Given the description of an element on the screen output the (x, y) to click on. 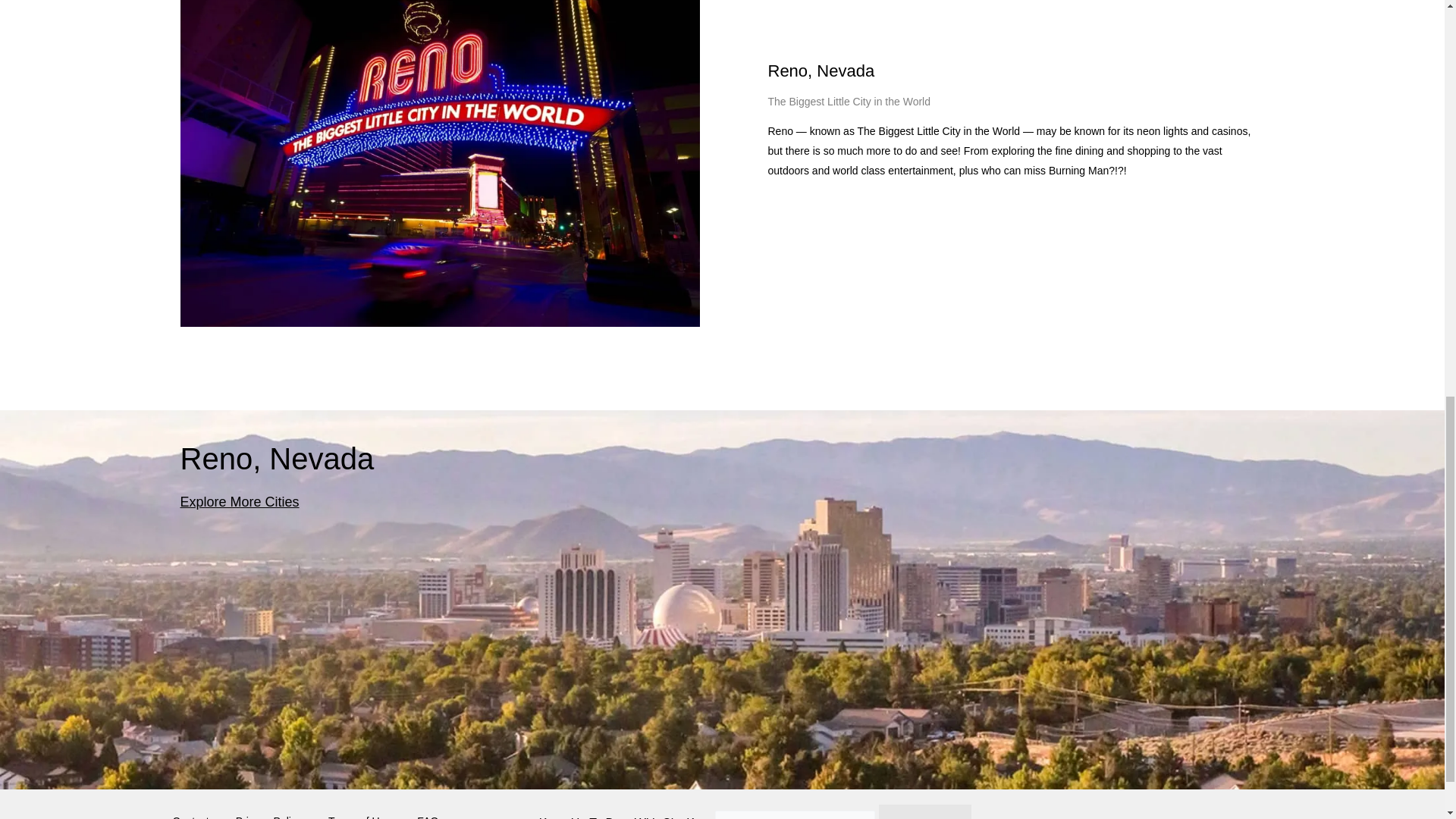
FAQs (430, 811)
Terms of Use (359, 811)
Privacy Policy (268, 811)
Contact (191, 811)
Subscribe (925, 811)
Explore More Cities (239, 501)
Subscribe (925, 811)
